Given the description of an element on the screen output the (x, y) to click on. 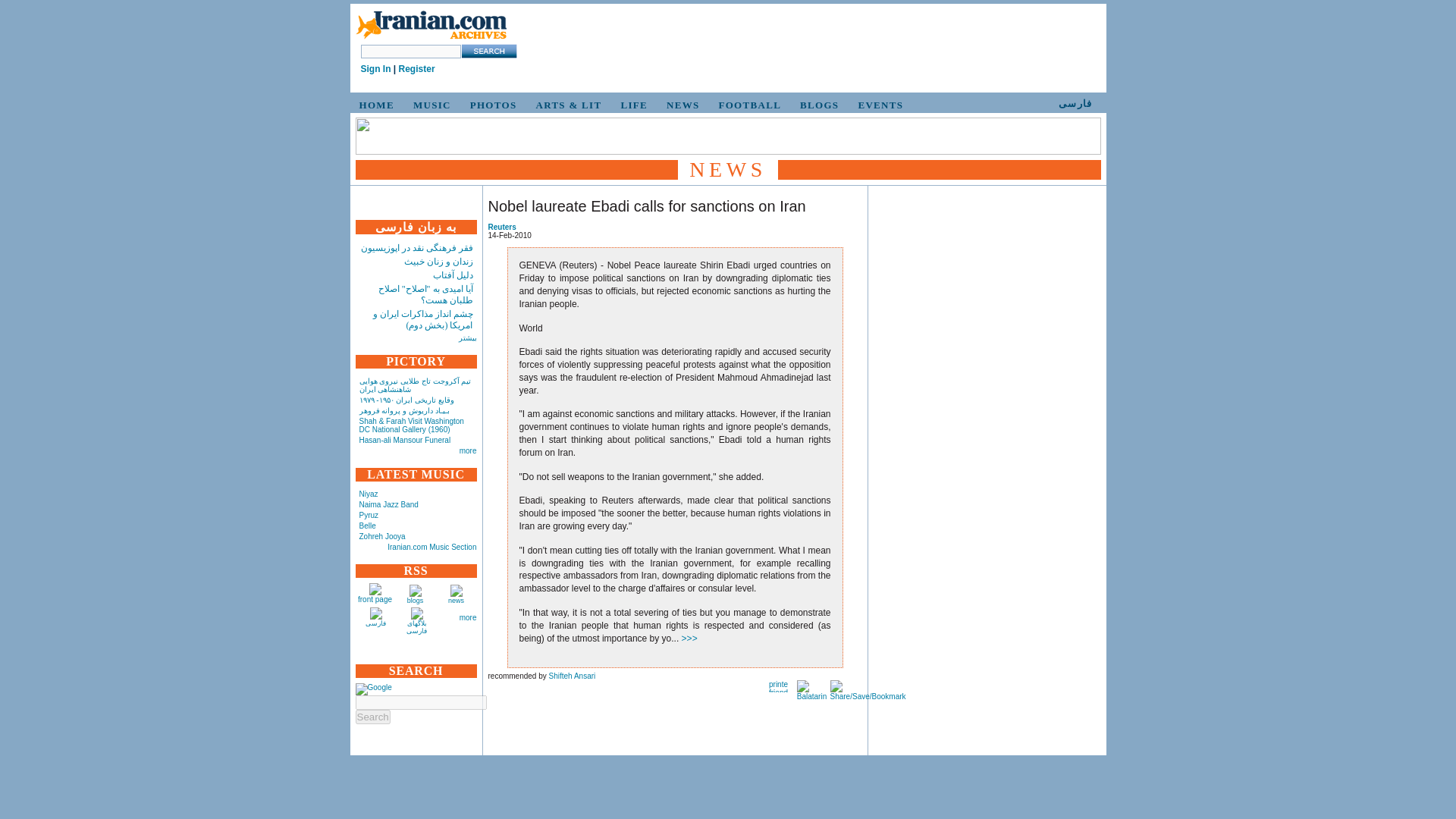
Google (373, 689)
FOOTBALL (747, 105)
news (456, 600)
Naima Jazz Band (389, 504)
Belle (367, 525)
Zohreh Jooya (382, 536)
Register (416, 68)
HOME (374, 105)
PHOTOS (491, 105)
LIFE (631, 105)
